Given the description of an element on the screen output the (x, y) to click on. 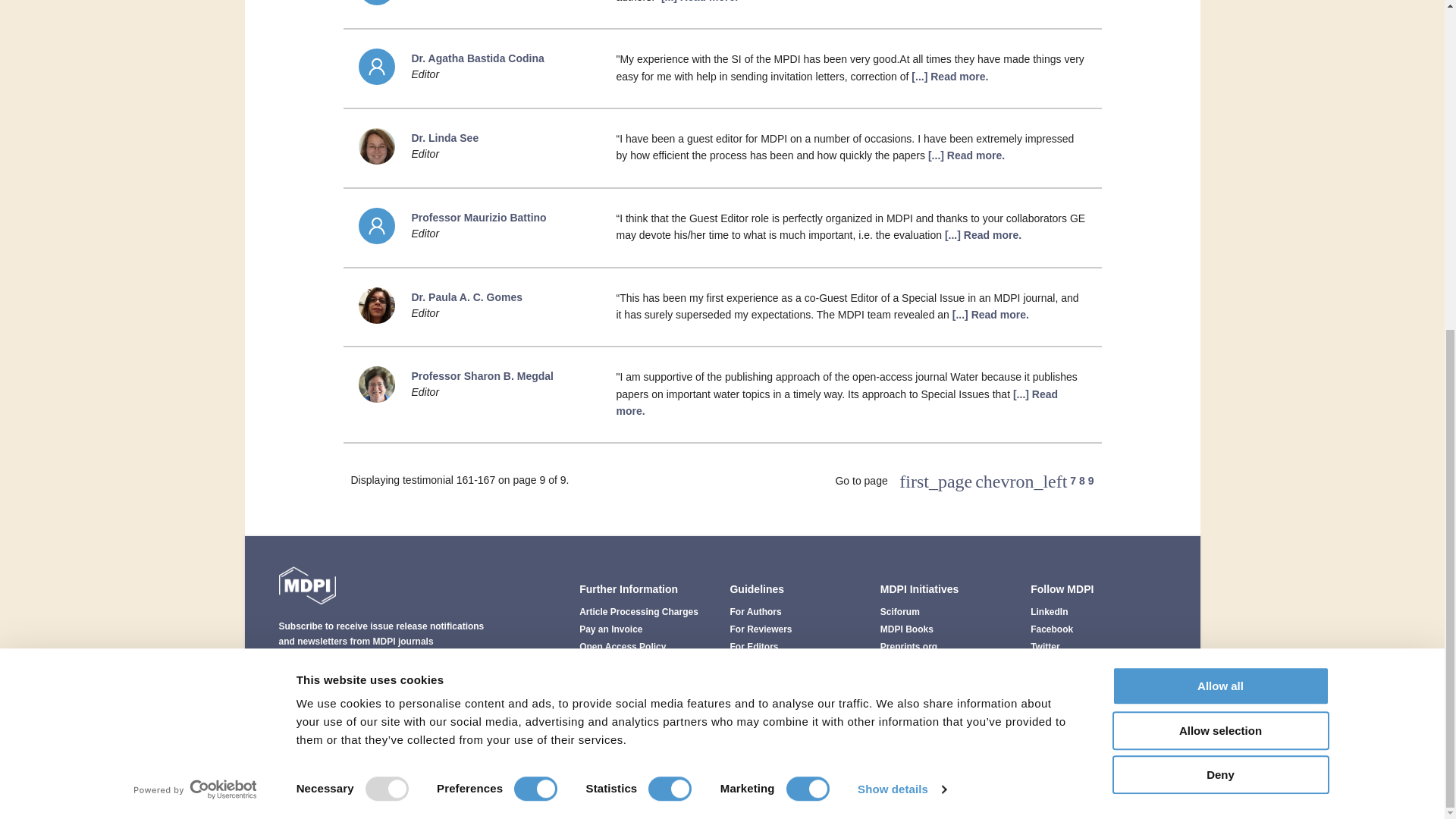
Show details (900, 241)
